Given the description of an element on the screen output the (x, y) to click on. 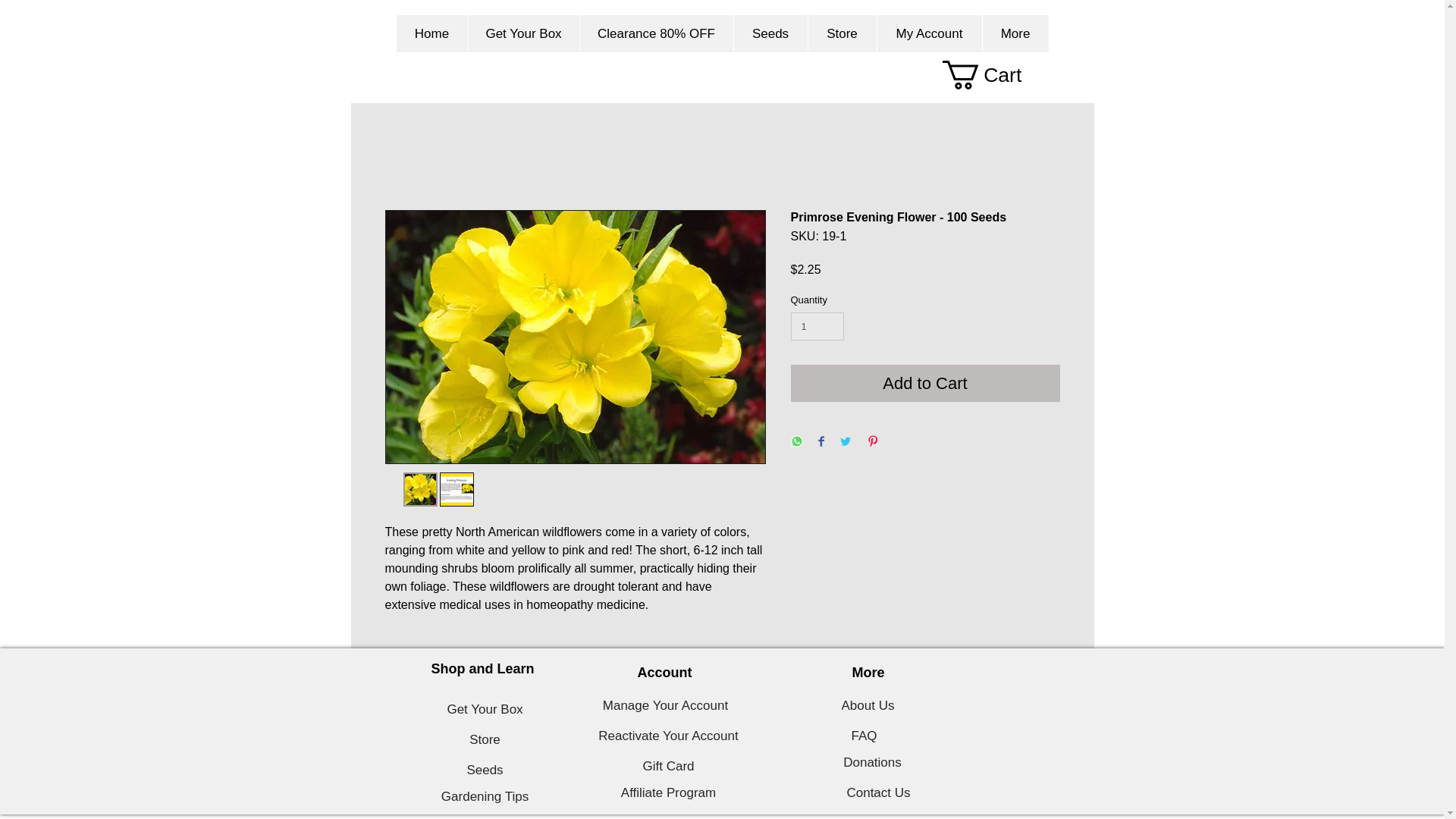
1 (817, 326)
Manage Your Account (664, 706)
Home (431, 33)
Seeds (769, 33)
Add to Cart (924, 383)
FAQ (863, 736)
About Us (867, 706)
Gift Card (668, 766)
Get Your Box (522, 33)
My Account (928, 33)
